Given the description of an element on the screen output the (x, y) to click on. 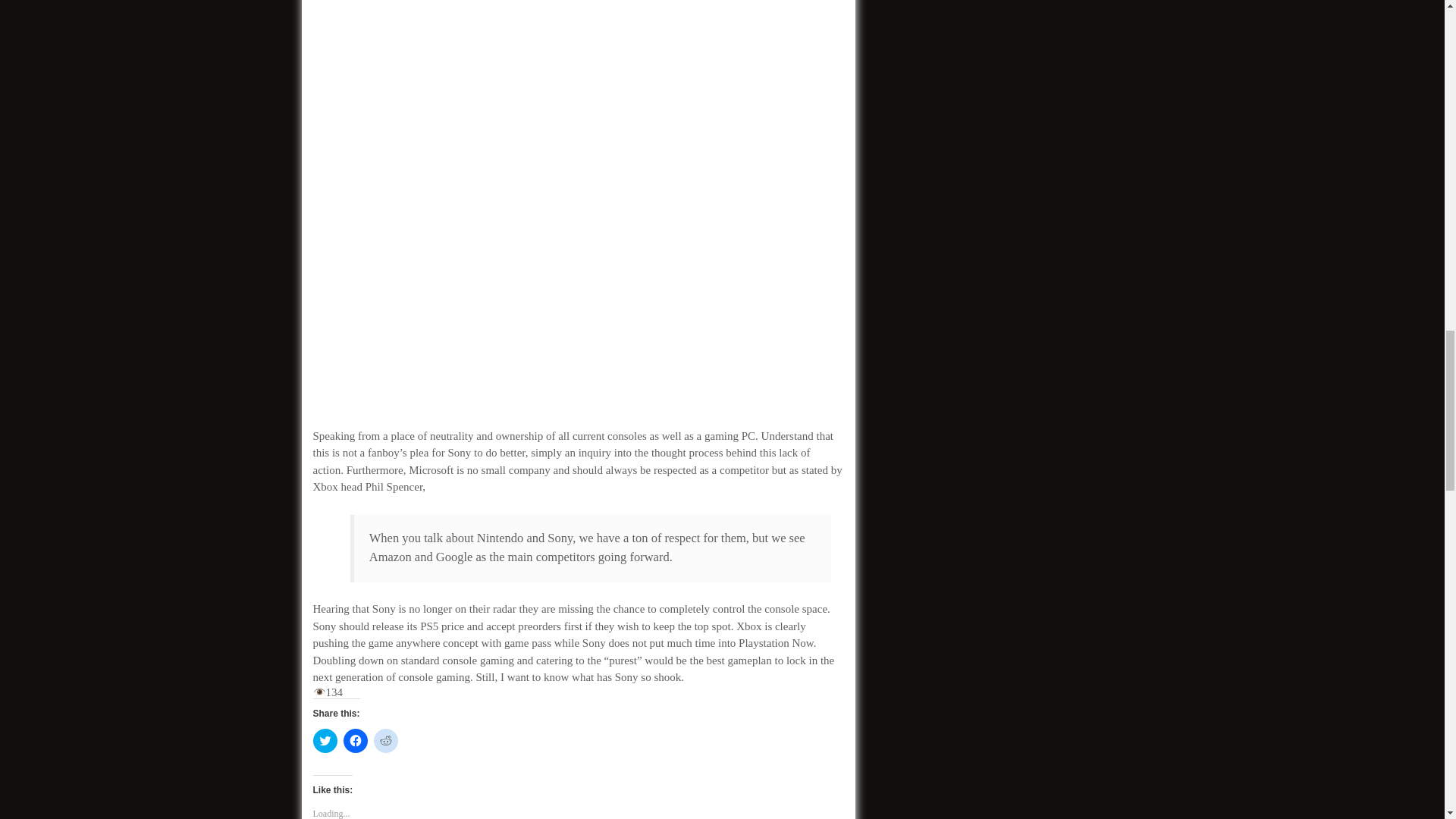
Click to share on Reddit (384, 740)
Click to share on Twitter (324, 740)
Click to share on Facebook (354, 740)
